Given the description of an element on the screen output the (x, y) to click on. 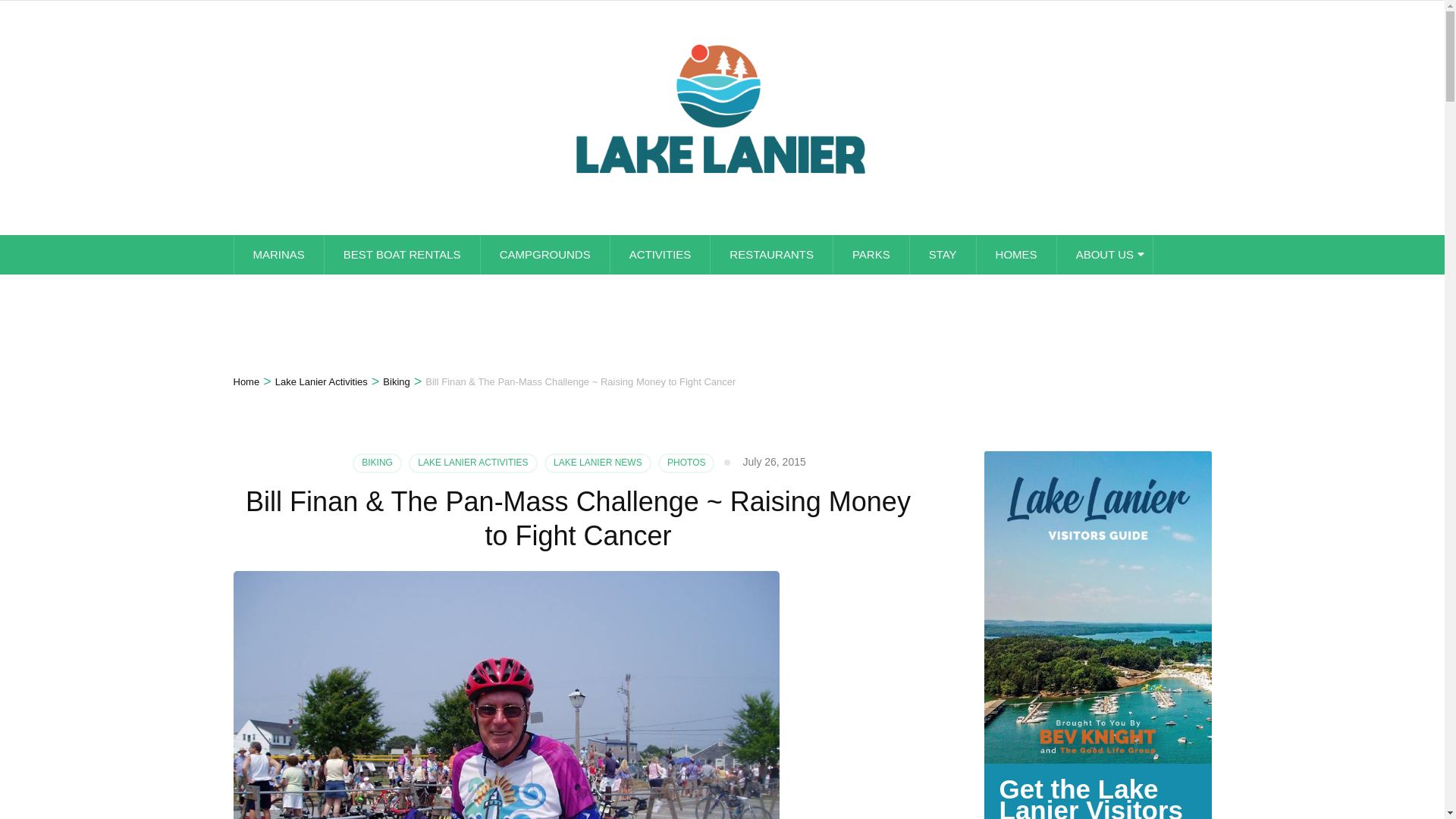
CAMPGROUNDS (545, 254)
Biking (395, 381)
ABOUT US (1105, 254)
Home (246, 381)
PHOTOS (686, 463)
BIKING (376, 463)
LAKE LANIER NEWS (597, 463)
BEST BOAT RENTALS (402, 254)
July 26, 2015 (773, 461)
LAKE LANIER ACTIVITIES (473, 463)
